Given the description of an element on the screen output the (x, y) to click on. 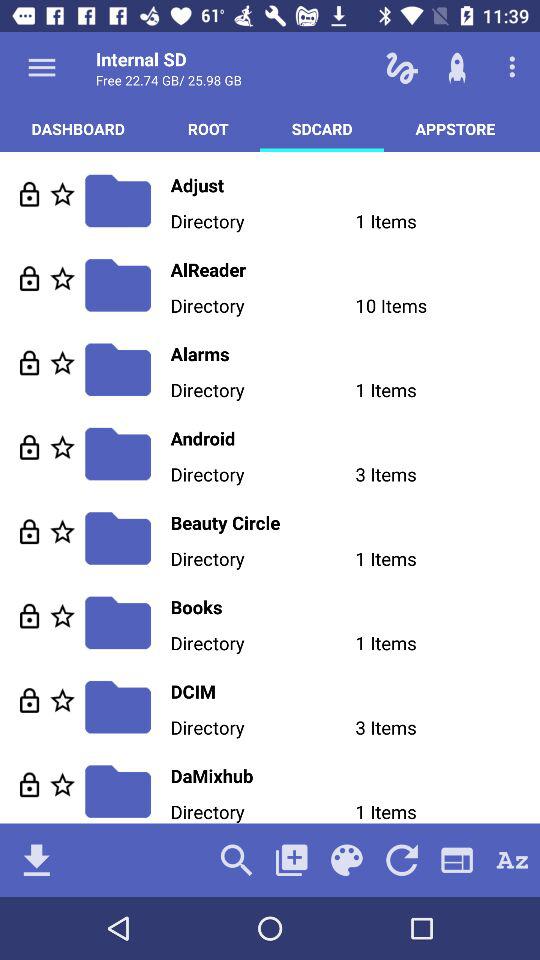
bookmark (62, 278)
